Given the description of an element on the screen output the (x, y) to click on. 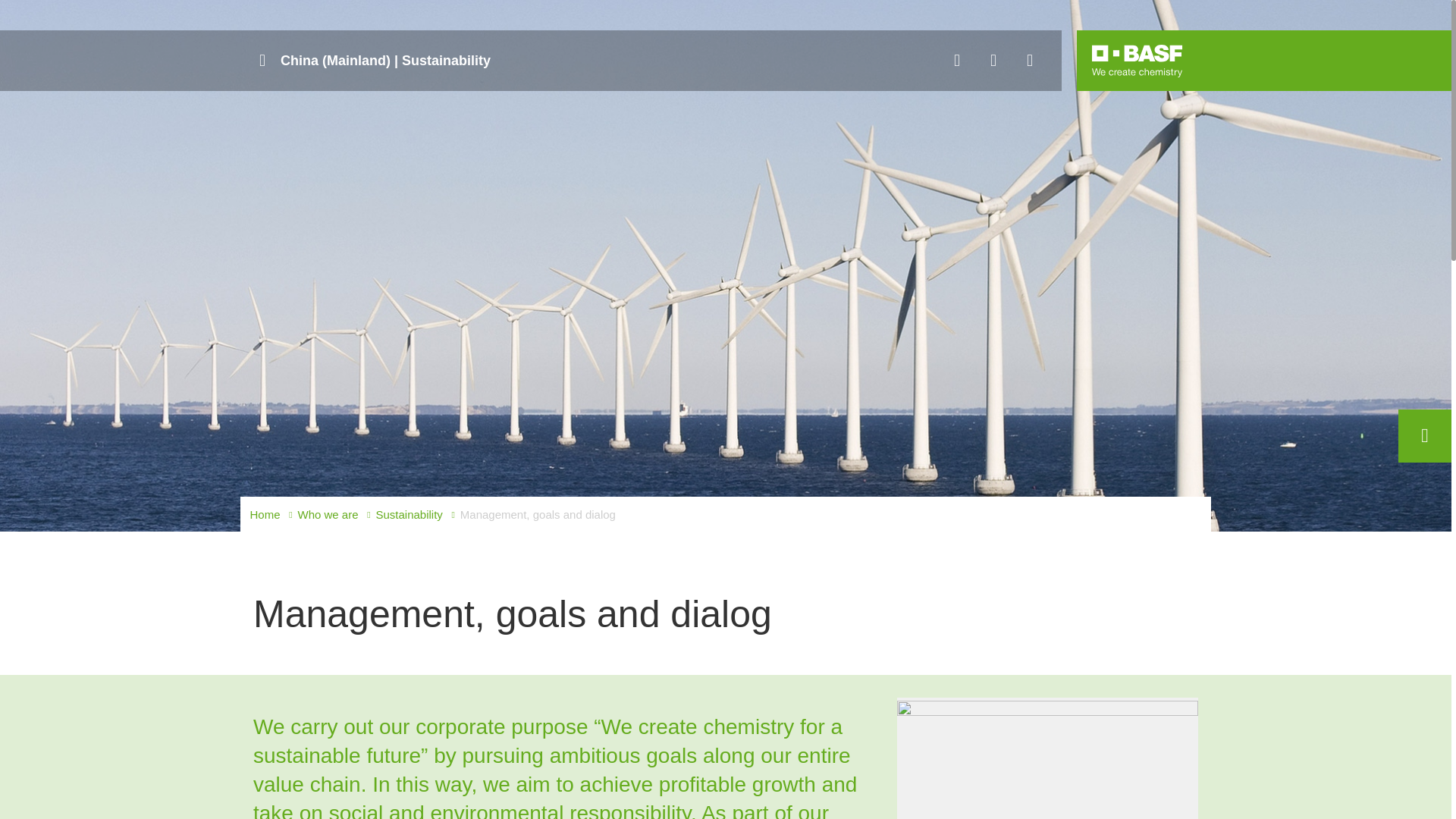
Home (265, 514)
Who we are (327, 514)
Management, goals and dialog (537, 514)
Who we are (327, 514)
Home (265, 514)
Sustainability (408, 514)
Sustainability (408, 514)
Management, goals and dialog (537, 514)
